Given the description of an element on the screen output the (x, y) to click on. 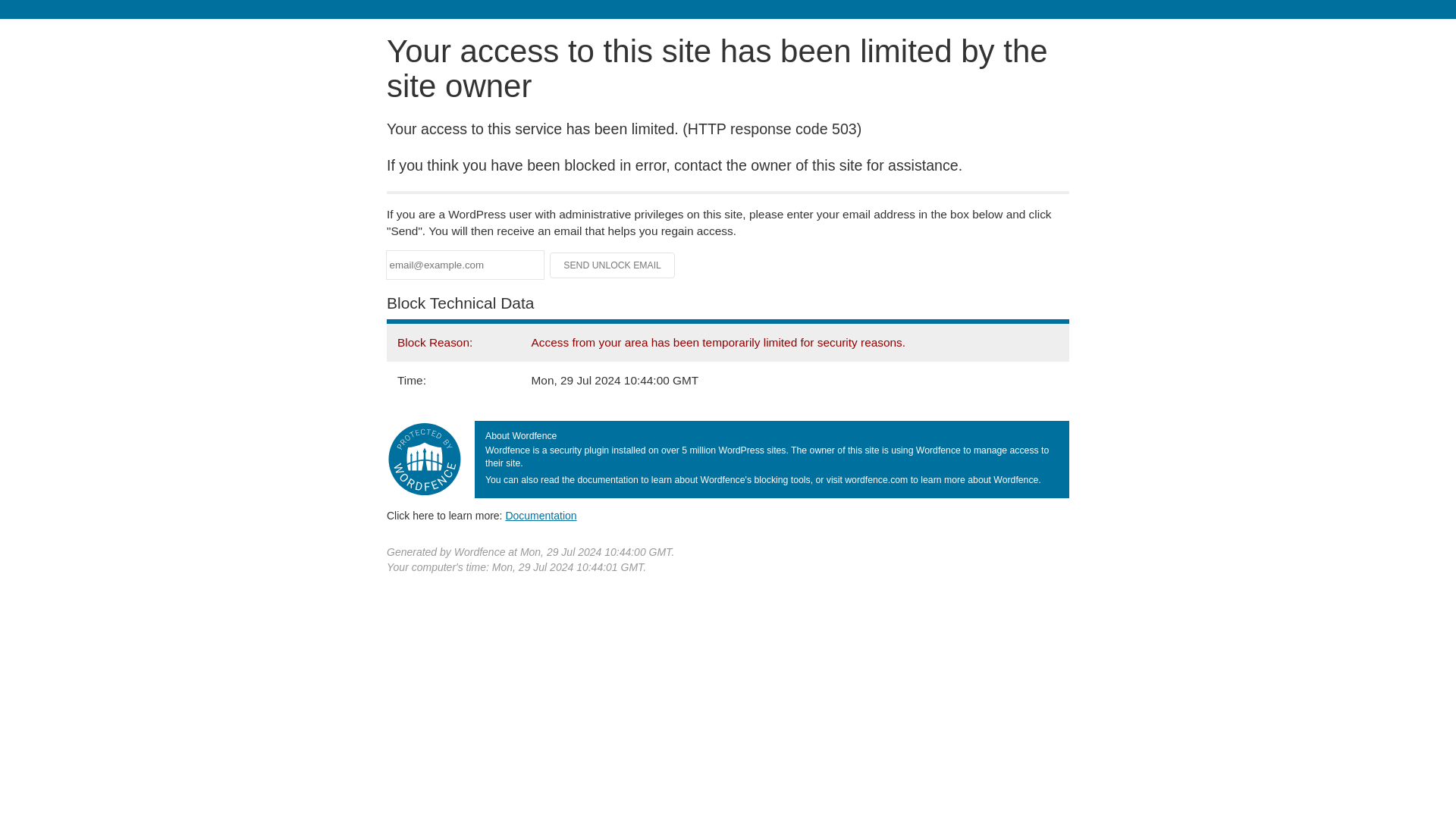
Send Unlock Email (612, 265)
Send Unlock Email (612, 265)
Documentation (540, 515)
